Given the description of an element on the screen output the (x, y) to click on. 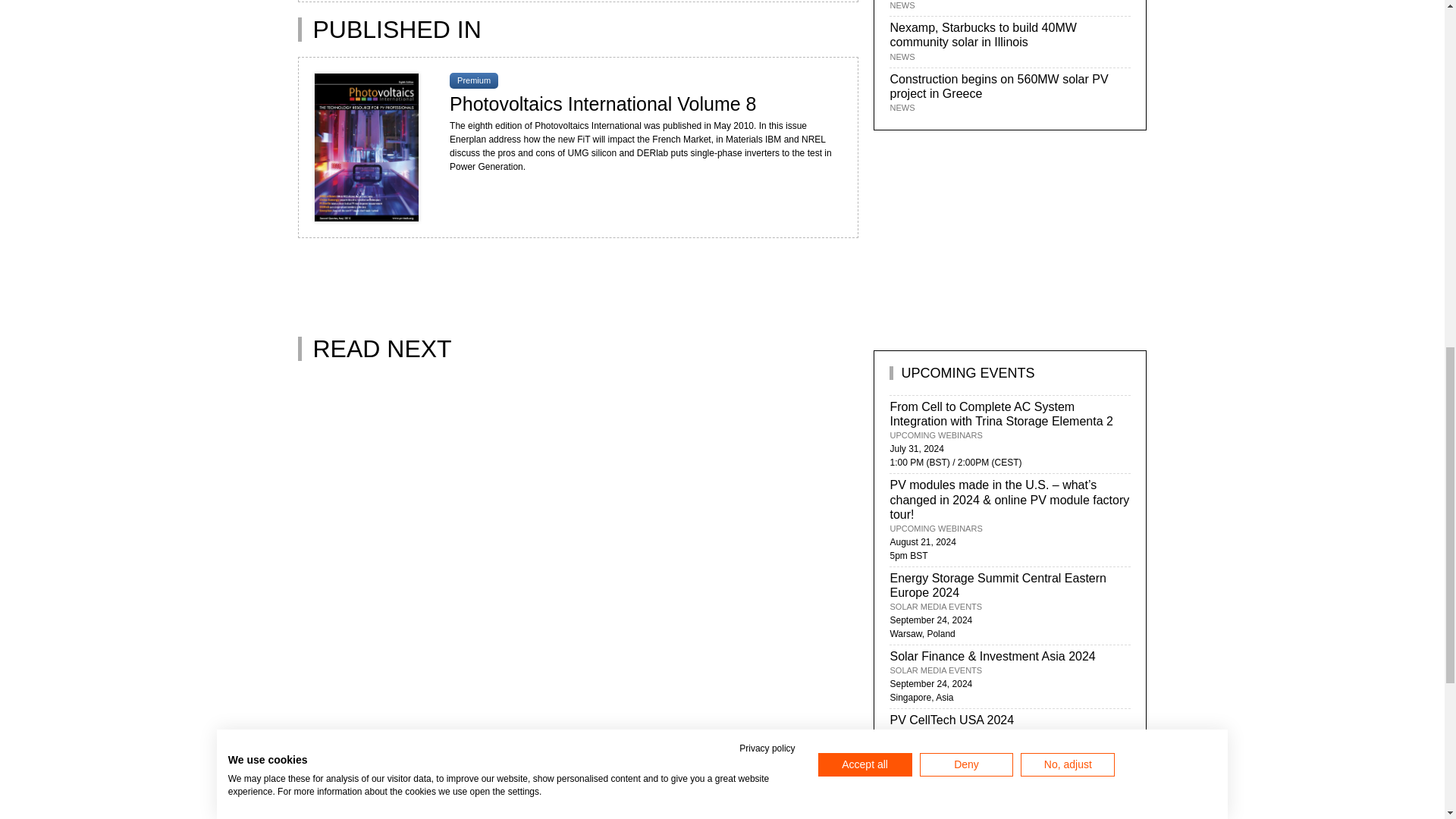
3rd party ad content (572, 279)
3rd party ad content (572, 437)
